Given the description of an element on the screen output the (x, y) to click on. 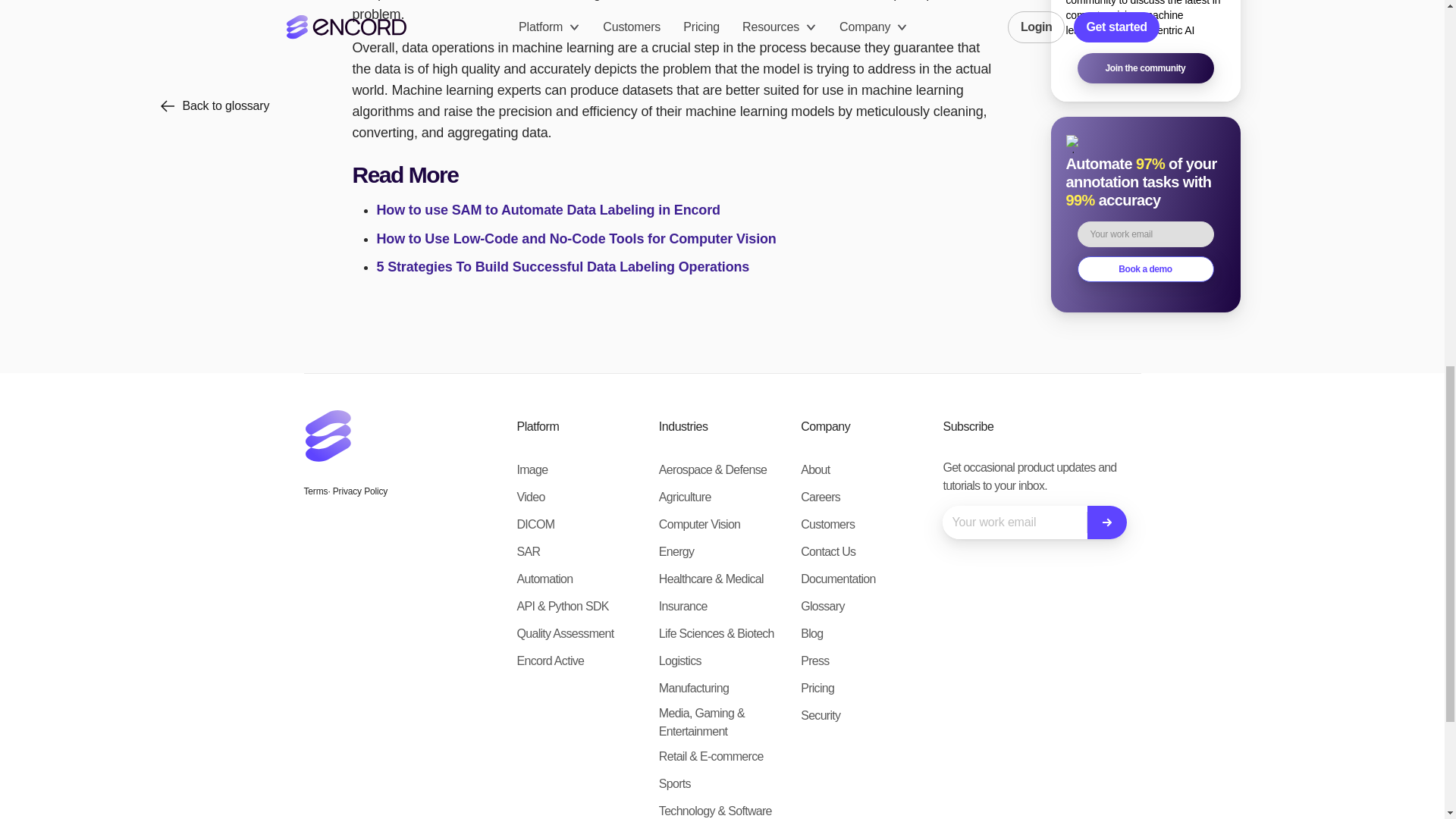
How to use SAM to Automate Data Labeling in Encord (547, 209)
Image (532, 470)
How to Use Low-Code and No-Code Tools for Computer Vision (575, 238)
Video (530, 497)
DICOM (535, 524)
Terms (314, 491)
Quality Assessment (565, 633)
Privacy Policy (360, 491)
SAR (528, 551)
5 Strategies To Build Successful Data Labeling Operations (562, 266)
